Given the description of an element on the screen output the (x, y) to click on. 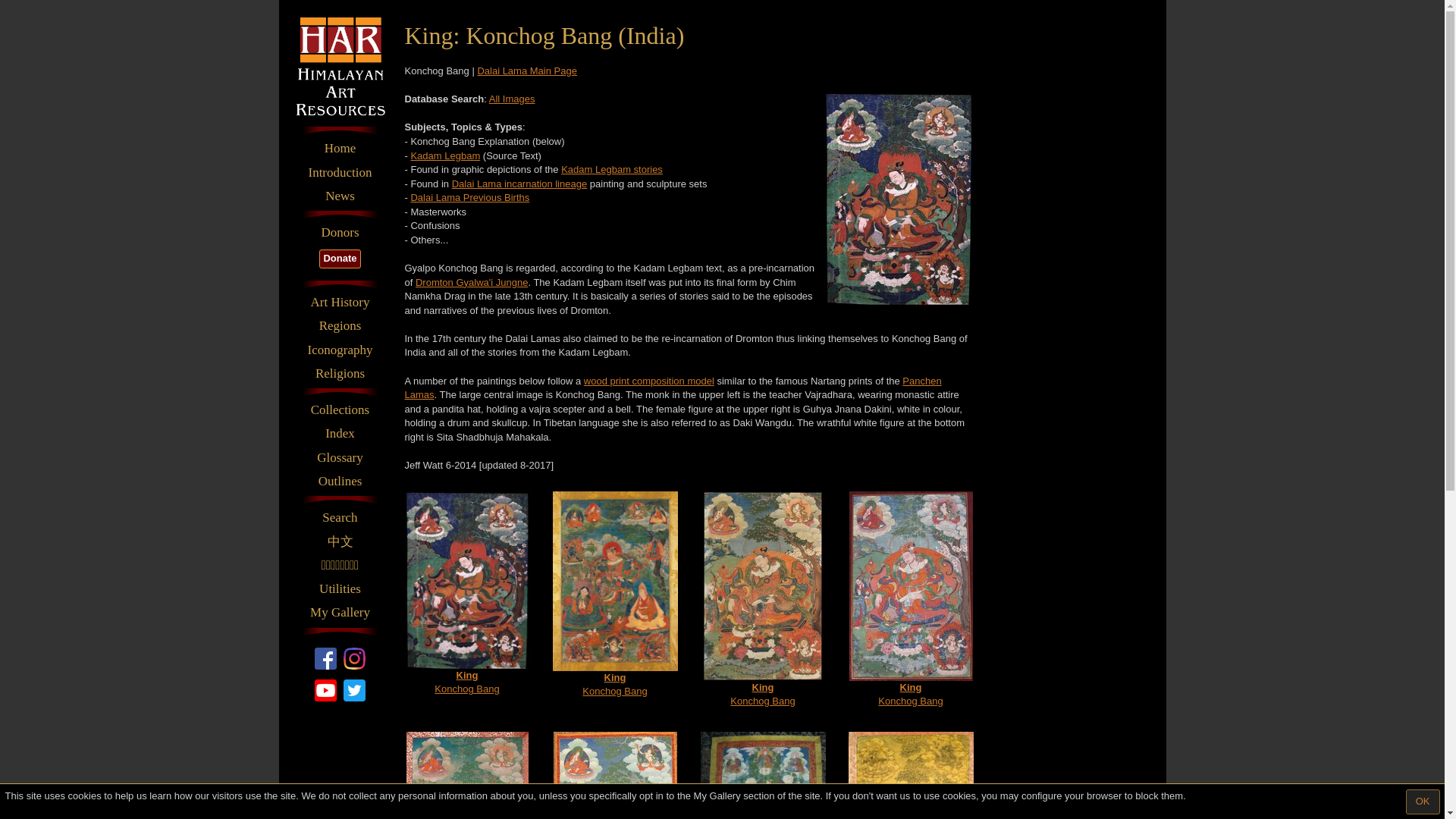
Index (339, 434)
Outlines (339, 481)
News (339, 196)
Donors (339, 232)
Religions (339, 373)
Donate (338, 258)
Home (339, 148)
My Gallery (339, 612)
Art History (339, 302)
Collections (339, 410)
Search (339, 517)
Iconography (339, 350)
Utilities (339, 588)
Glossary (339, 457)
Introduction (339, 172)
